Given the description of an element on the screen output the (x, y) to click on. 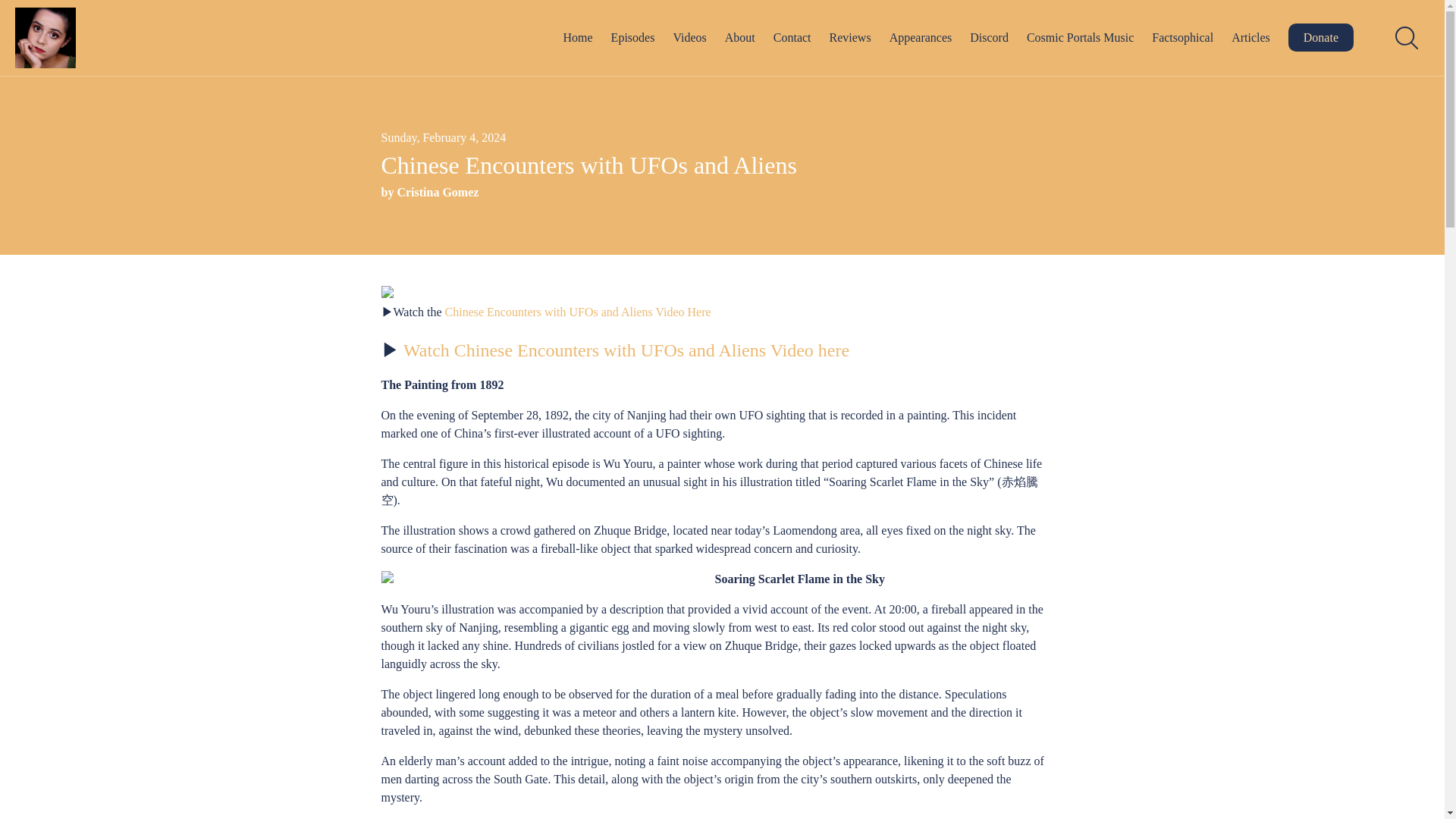
Contact (791, 37)
Reviews (849, 37)
About (740, 37)
Factsophical (1181, 37)
Videos (689, 37)
Cosmic Portals Music (1080, 37)
Articles (1250, 37)
Watch Chinese Encounters with UFOs and Aliens Video here  (628, 350)
Discord (989, 37)
Appearances (920, 37)
